Given the description of an element on the screen output the (x, y) to click on. 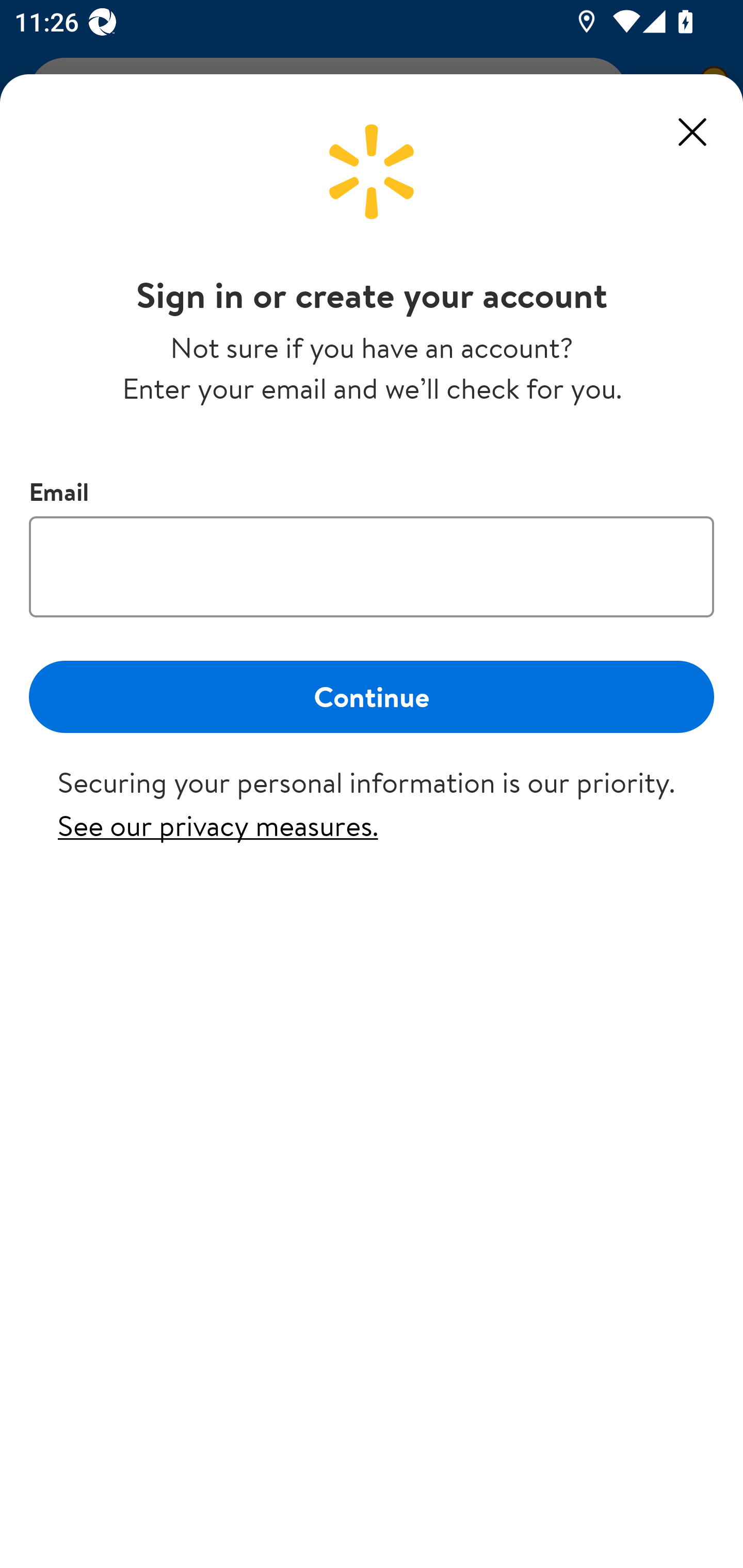
Close (692, 131)
Email (371, 566)
Continue (371, 696)
